Given the description of an element on the screen output the (x, y) to click on. 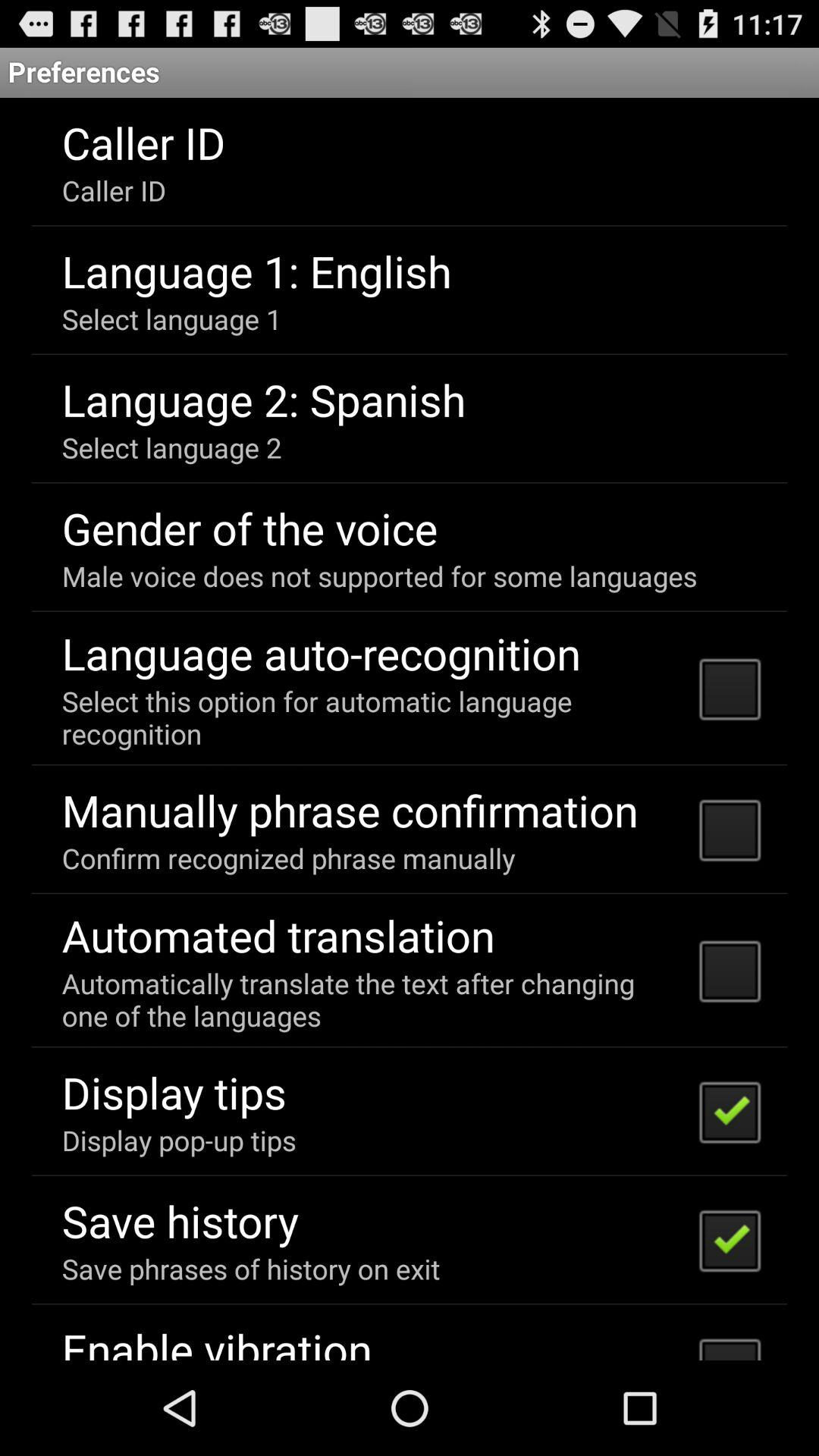
slide to browse menu (409, 728)
